Given the description of an element on the screen output the (x, y) to click on. 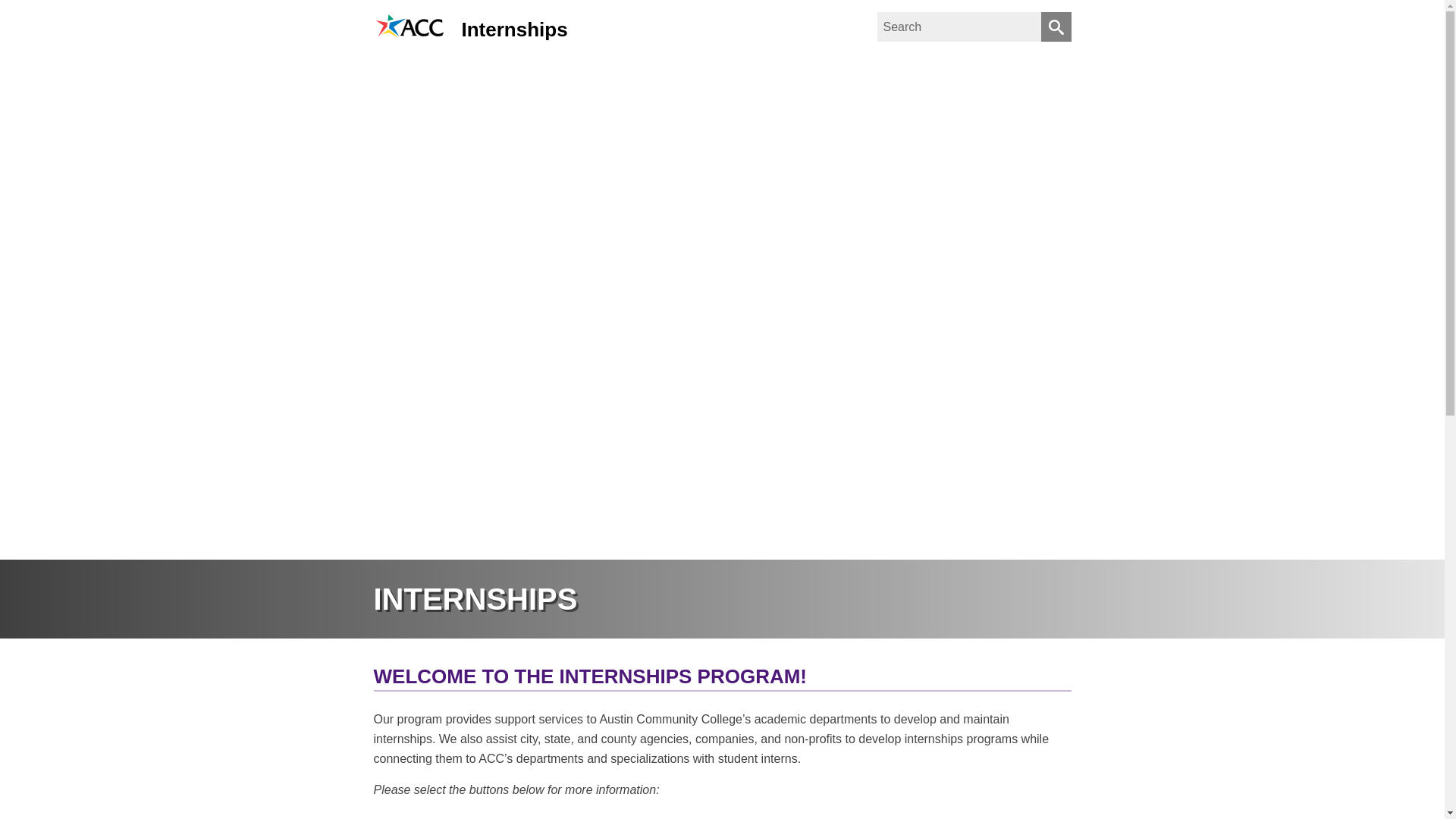
Austin Community College (410, 25)
Search (1055, 26)
Internships (514, 29)
Austin Community College (410, 33)
